Given the description of an element on the screen output the (x, y) to click on. 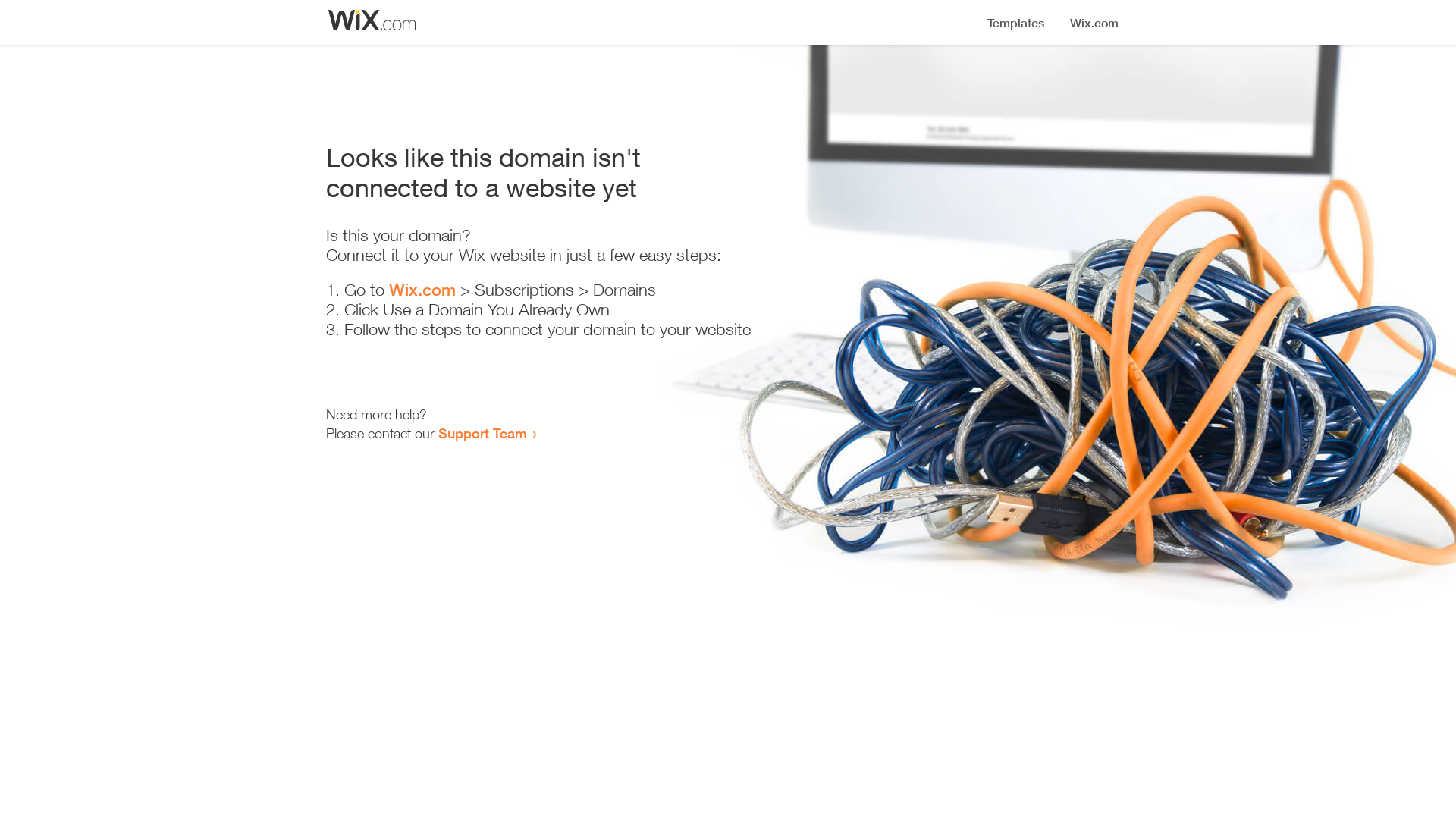
Wix.com Element type: text (422, 289)
Support Team Element type: text (482, 432)
